Given the description of an element on the screen output the (x, y) to click on. 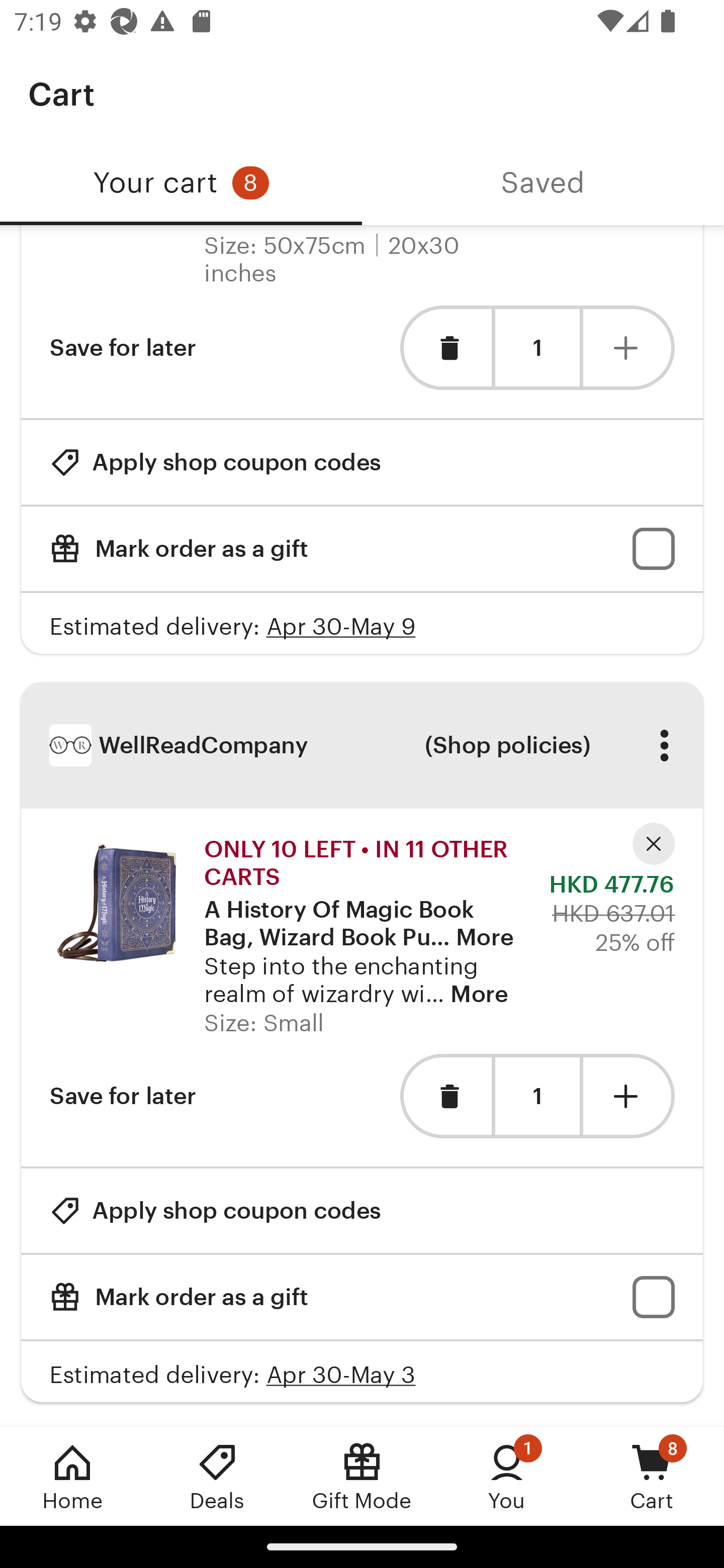
Saved, tab 2 of 2 Saved (543, 183)
Save for later (122, 347)
Remove item from cart (445, 347)
Add one unit to cart (628, 347)
1 (537, 347)
Apply shop coupon codes (215, 462)
Mark order as a gift (361, 548)
WellReadCompany (Shop policies) More options (361, 745)
(Shop policies) (507, 744)
More options (663, 744)
Save for later (122, 1095)
Remove item from cart (445, 1095)
Add one unit to cart (628, 1095)
1 (537, 1095)
Apply shop coupon codes (215, 1210)
Mark order as a gift (361, 1296)
Home (72, 1475)
Deals (216, 1475)
Gift Mode (361, 1475)
You, 1 new notification You (506, 1475)
